Given the description of an element on the screen output the (x, y) to click on. 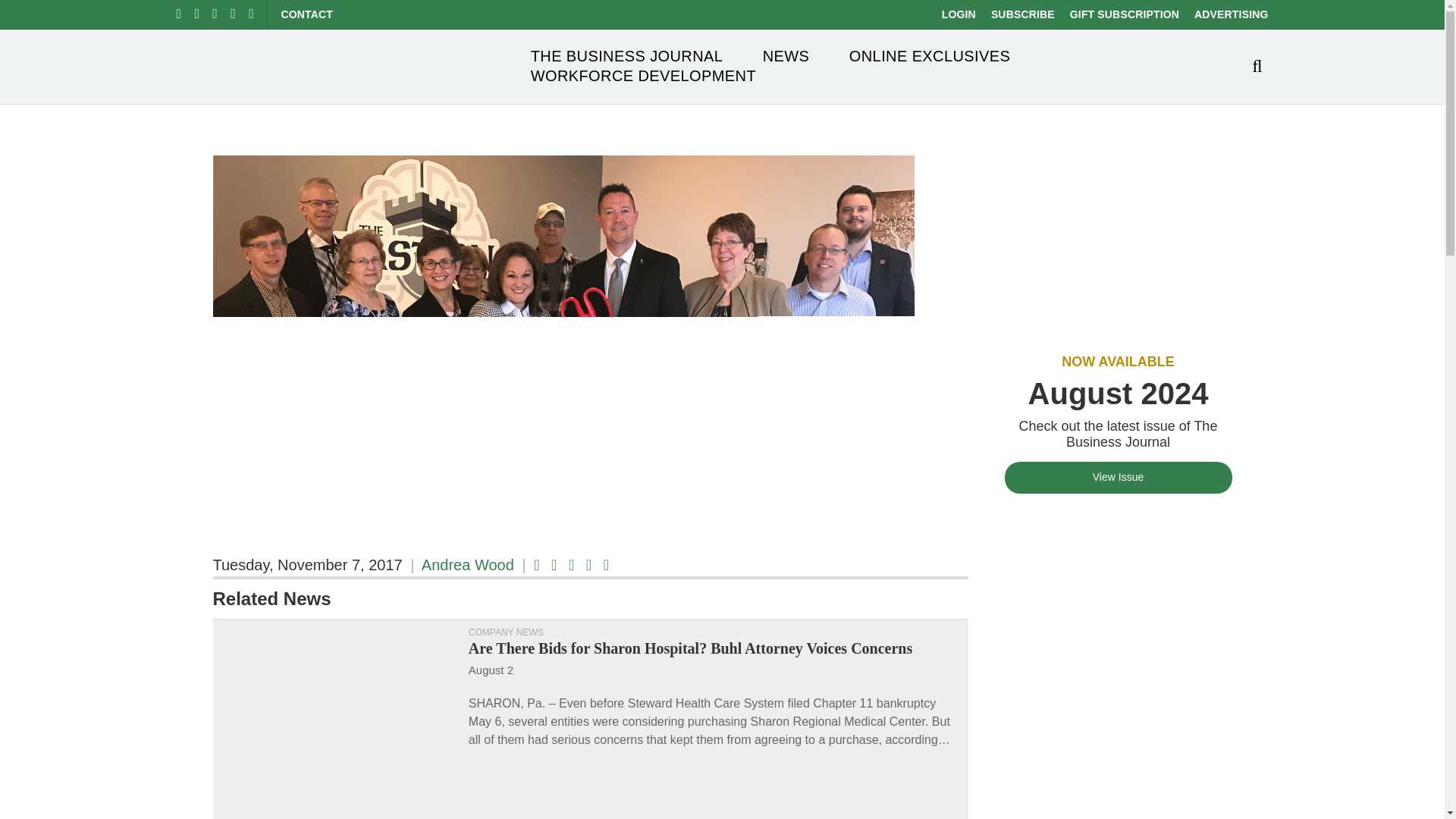
LOGIN (958, 14)
THE BUSINESS JOURNAL (627, 55)
ADVERTISING (1230, 14)
GIFT SUBSCRIPTION (1124, 14)
NEWS (785, 55)
CONTACT (307, 14)
SUBSCRIBE (1022, 14)
